Given the description of an element on the screen output the (x, y) to click on. 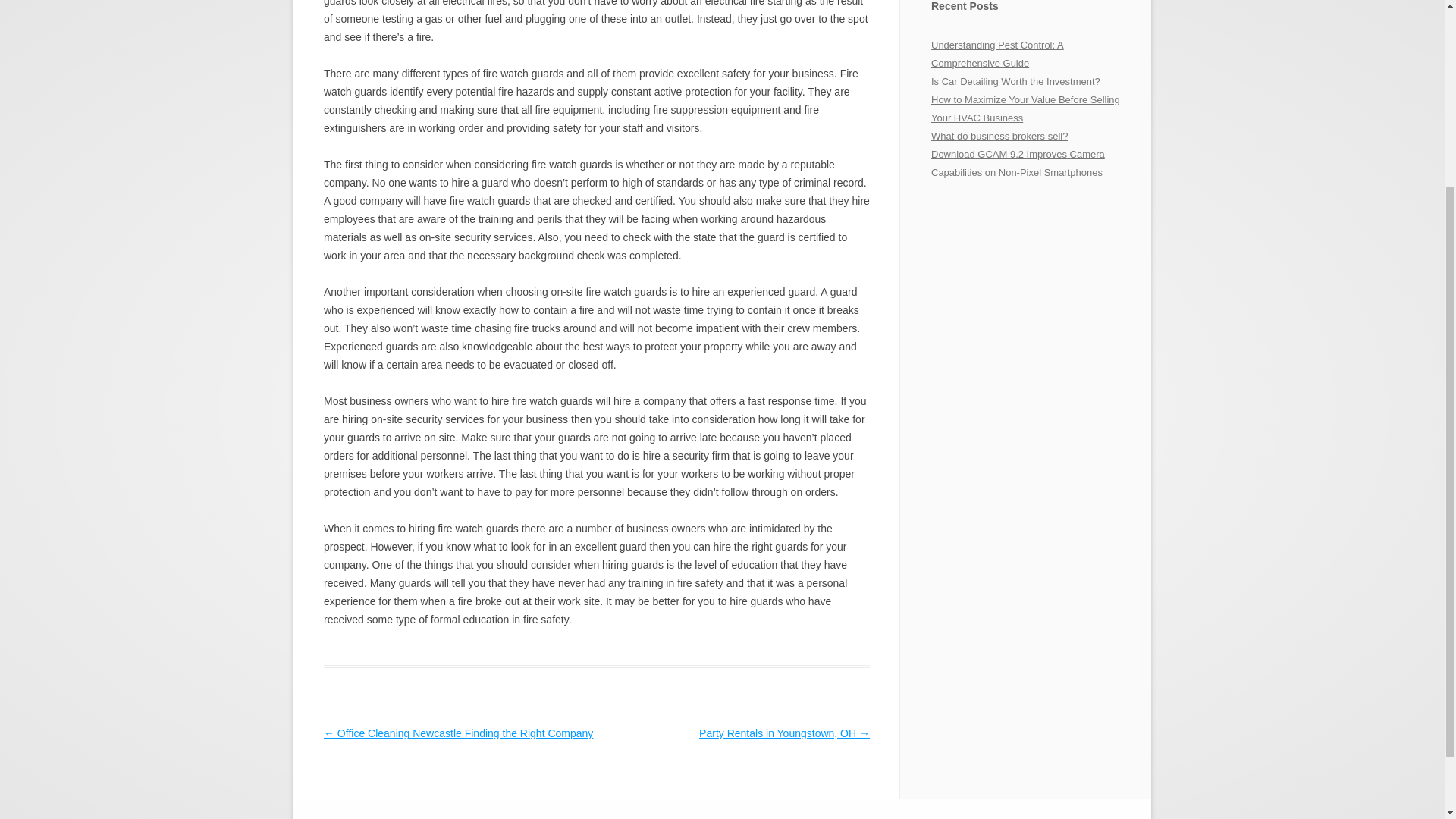
Understanding Pest Control: A Comprehensive Guide (997, 53)
How to Maximize Your Value Before Selling Your HVAC Business (1025, 108)
What do business brokers sell? (999, 135)
Is Car Detailing Worth the Investment? (1015, 81)
